Given the description of an element on the screen output the (x, y) to click on. 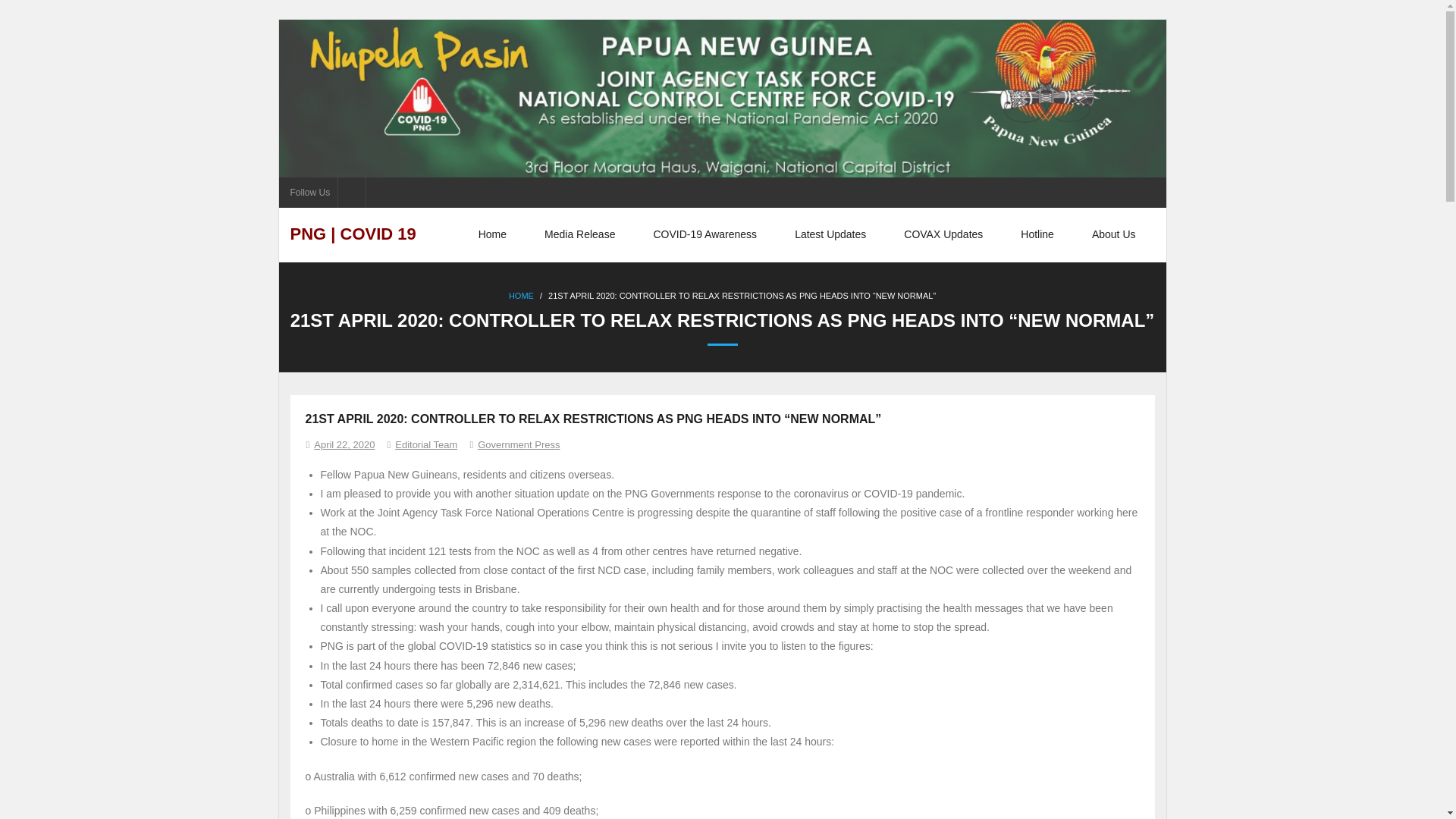
View all posts by Editorial Team (425, 444)
Home (492, 234)
Latest Updates (830, 234)
April 22, 2020 (344, 444)
HOME (521, 295)
Hotline (1037, 234)
COVID-19 Awareness (704, 234)
About Us (1113, 234)
Editorial Team (425, 444)
Government Press (518, 444)
